Given the description of an element on the screen output the (x, y) to click on. 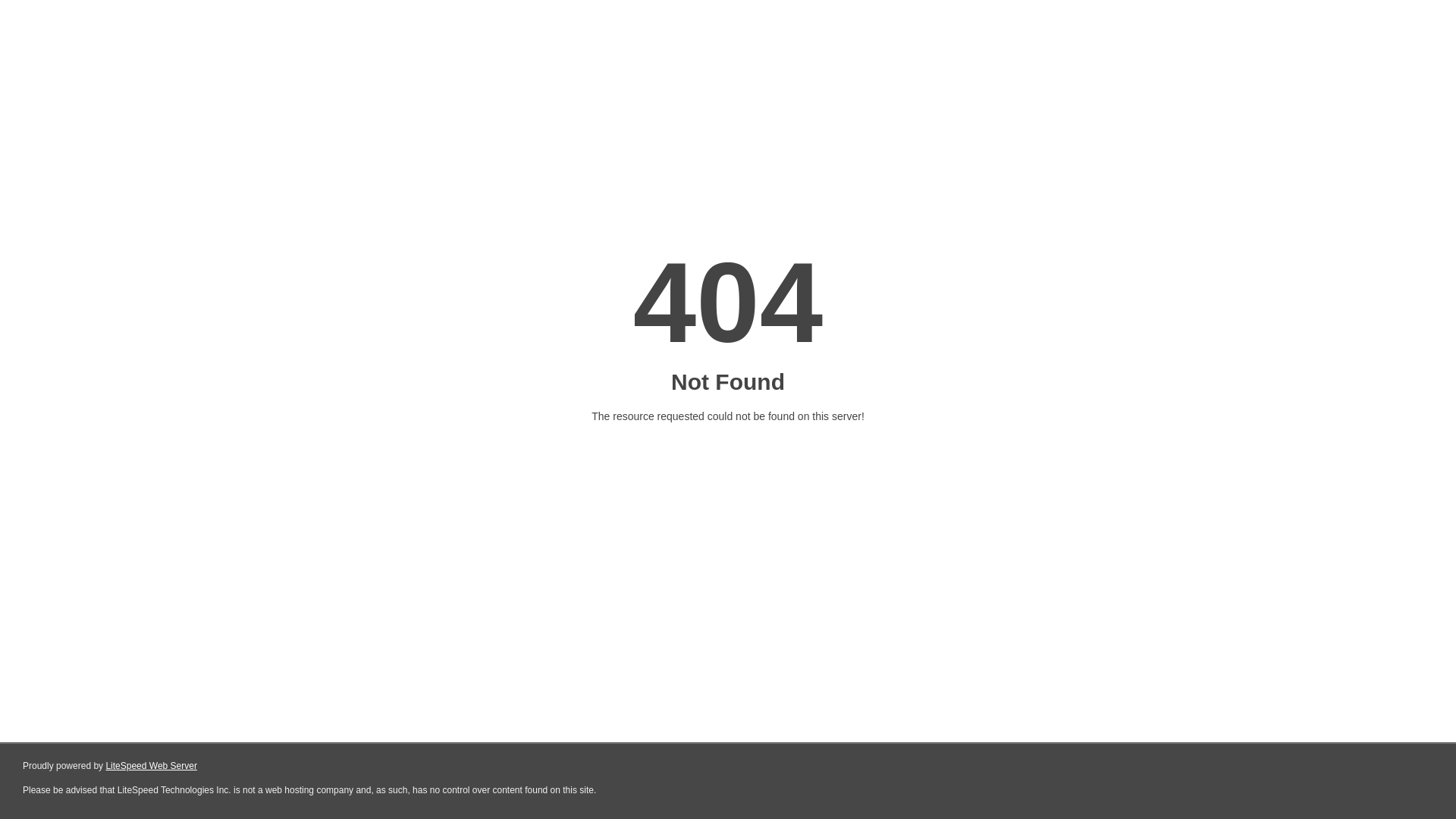
LiteSpeed Web Server Element type: text (151, 765)
